Given the description of an element on the screen output the (x, y) to click on. 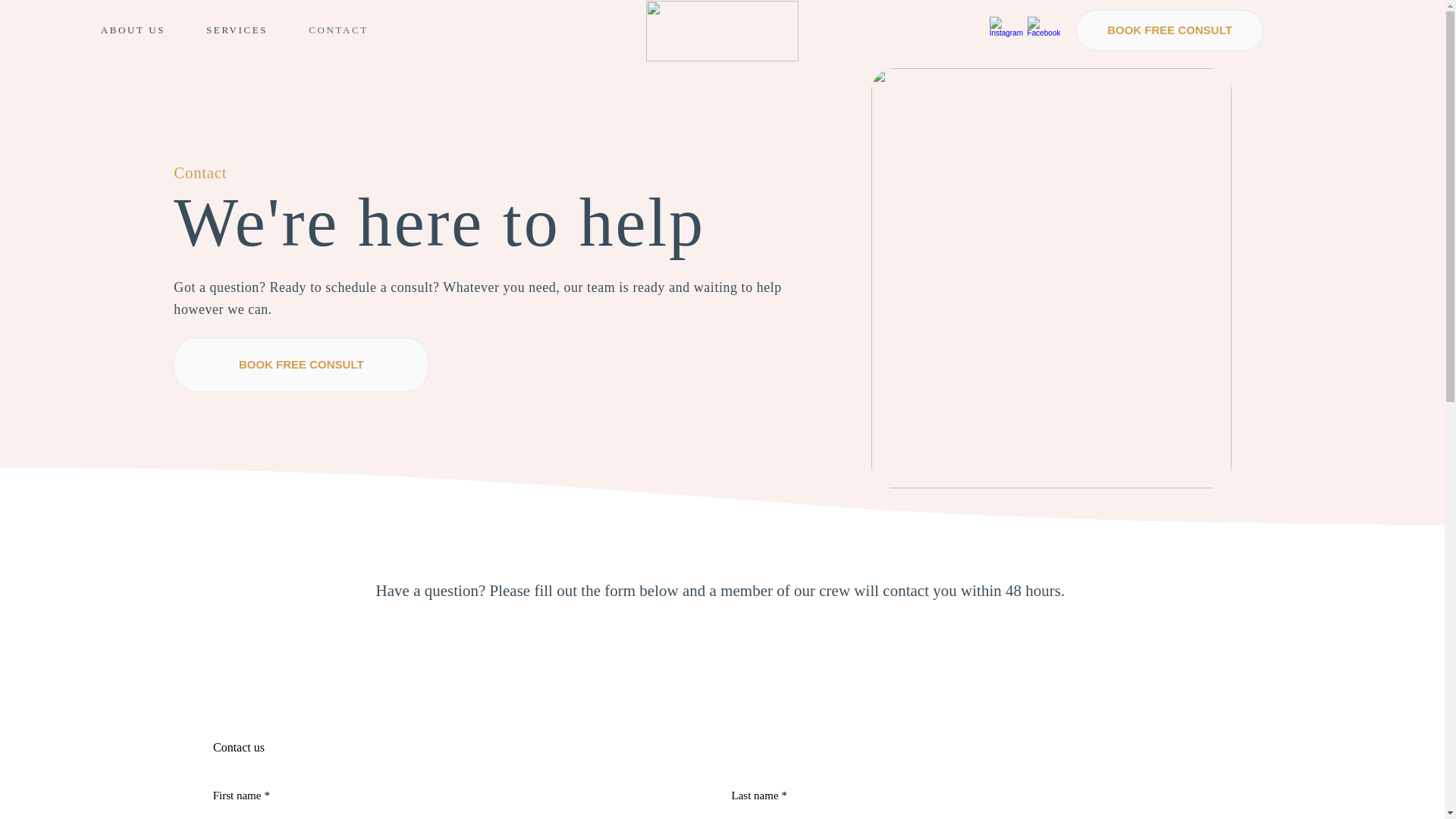
CONTACT (338, 30)
BOOK FREE CONSULT (1169, 29)
ABOUT US (360, 30)
BOOK FREE CONSULT (133, 30)
SERVICES (300, 365)
